Given the description of an element on the screen output the (x, y) to click on. 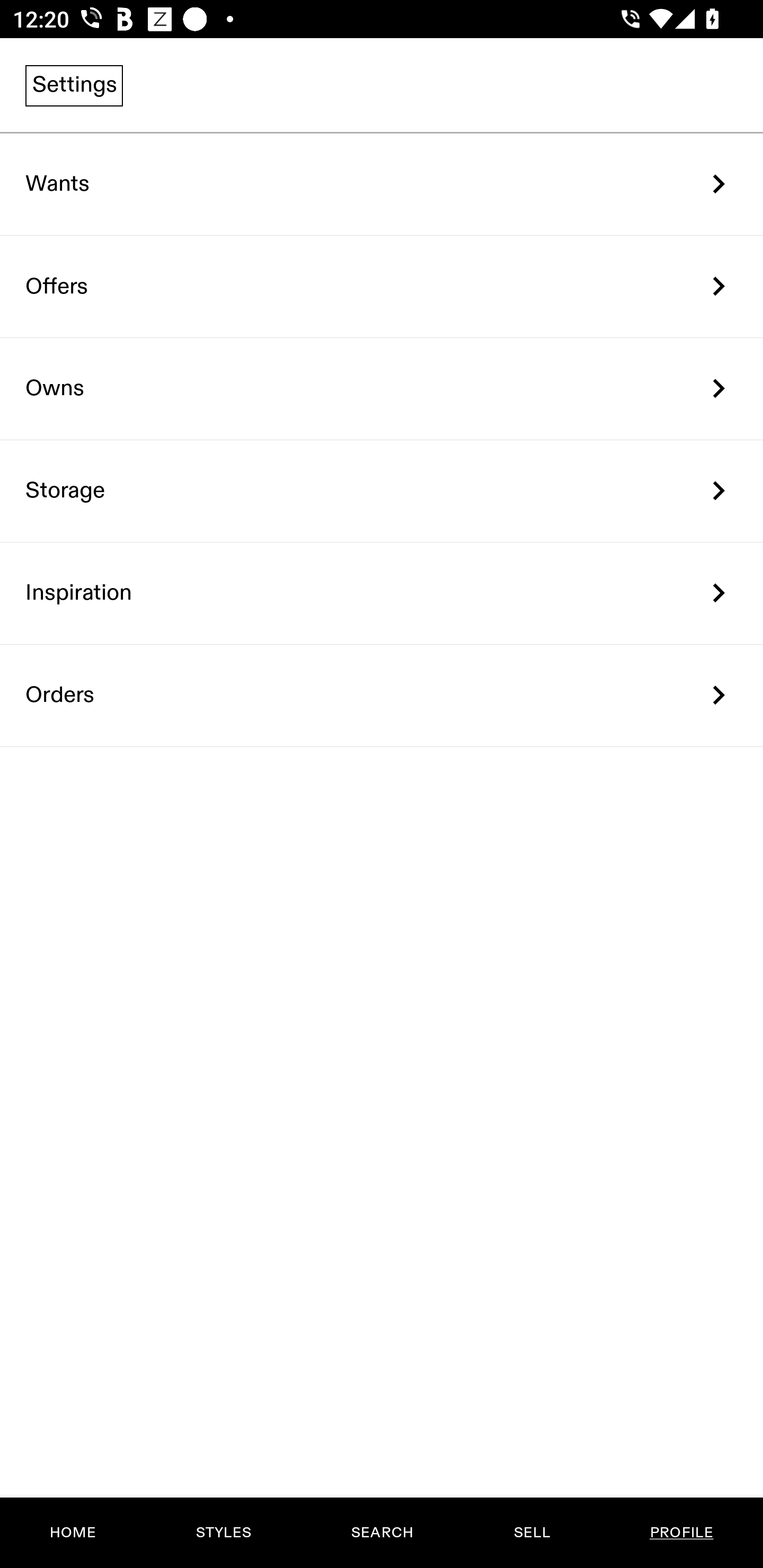
Settings (73, 85)
Wants (381, 184)
Offers (381, 286)
Owns (381, 388)
Storage (381, 491)
Inspiration (381, 593)
Orders (381, 695)
HOME (72, 1532)
STYLES (222, 1532)
SEARCH (381, 1532)
SELL (531, 1532)
PROFILE (681, 1532)
